Given the description of an element on the screen output the (x, y) to click on. 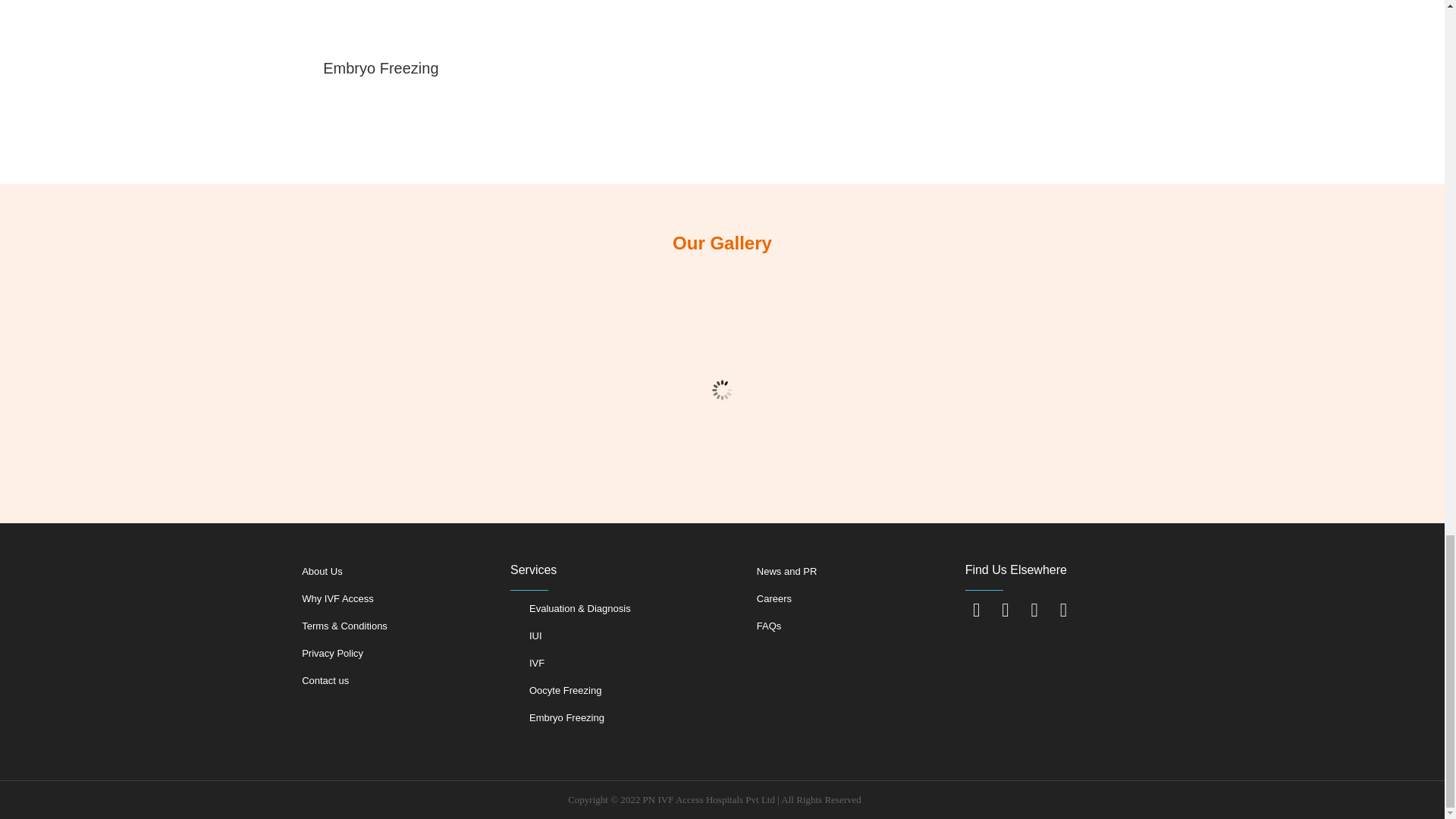
YouTube (1034, 609)
Privacy Policy (331, 653)
Twitter (1005, 609)
Linked in (1062, 609)
Facebook (976, 609)
Why IVF Access (337, 598)
About Us (321, 571)
Embryo Freezing (380, 67)
